Given the description of an element on the screen output the (x, y) to click on. 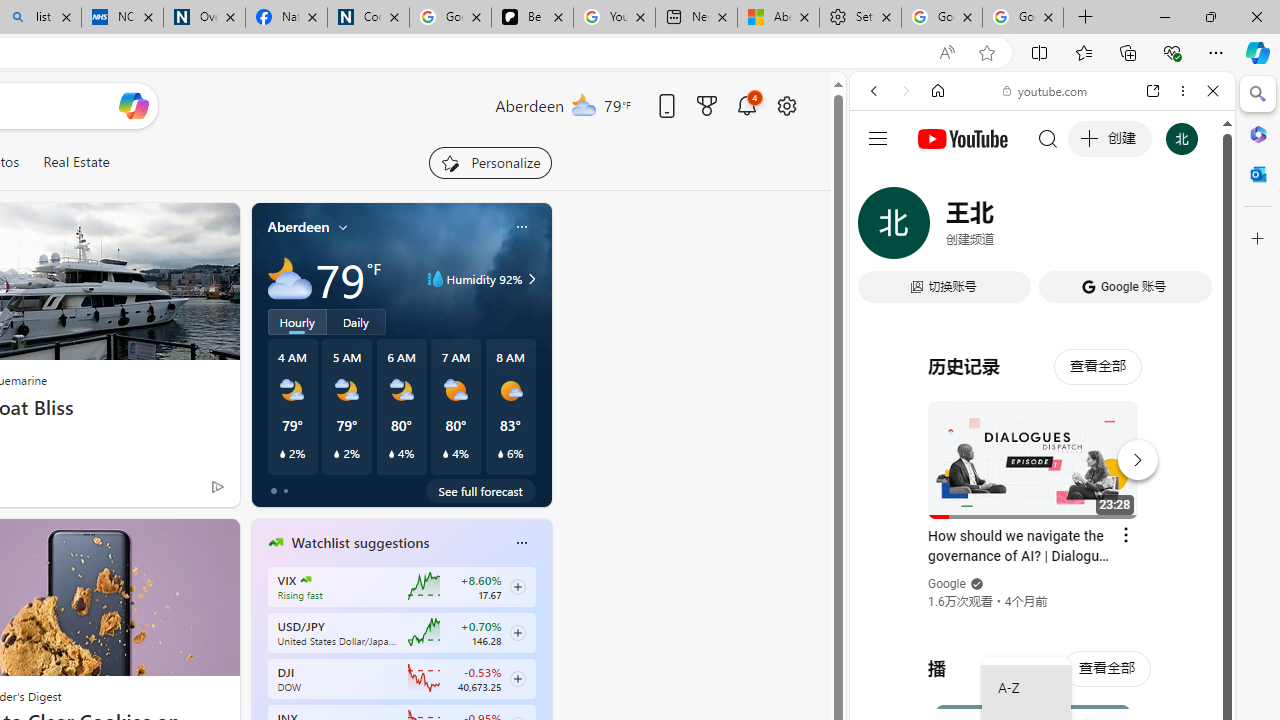
CBOE Market Volatility Index (306, 579)
Class: follow-button  m (517, 678)
Search videos from youtube.com (1005, 657)
